Given the description of an element on the screen output the (x, y) to click on. 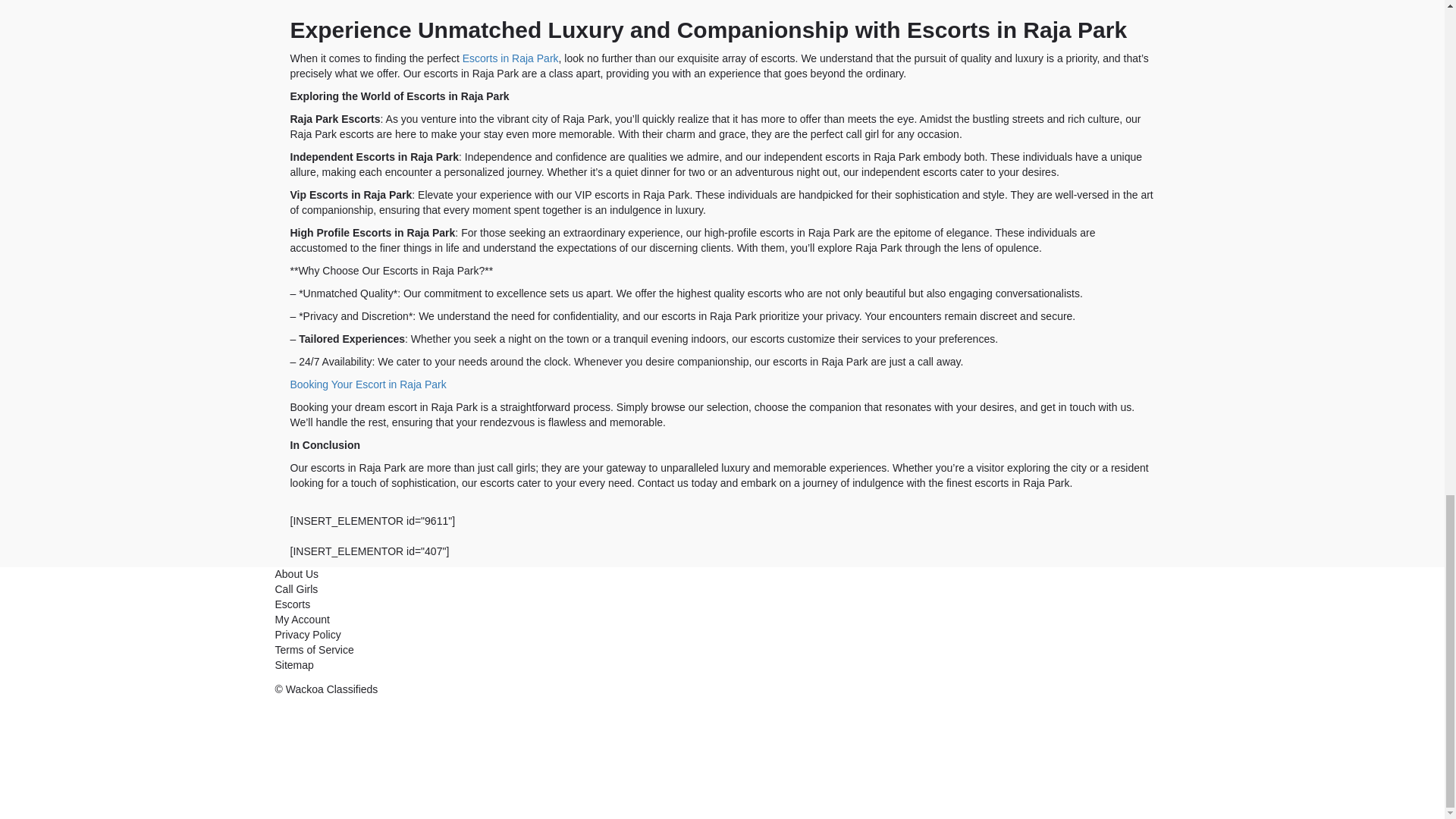
Escorts  (294, 604)
Terms of Service (314, 649)
Booking Your Escort in Raja Park (367, 384)
Call Girls (296, 589)
Sitemap (294, 664)
Escorts in Raja Park (511, 58)
Privacy Policy (307, 634)
DMCA.com Protection Status (388, 753)
My Account (302, 619)
About Us (296, 573)
